Given the description of an element on the screen output the (x, y) to click on. 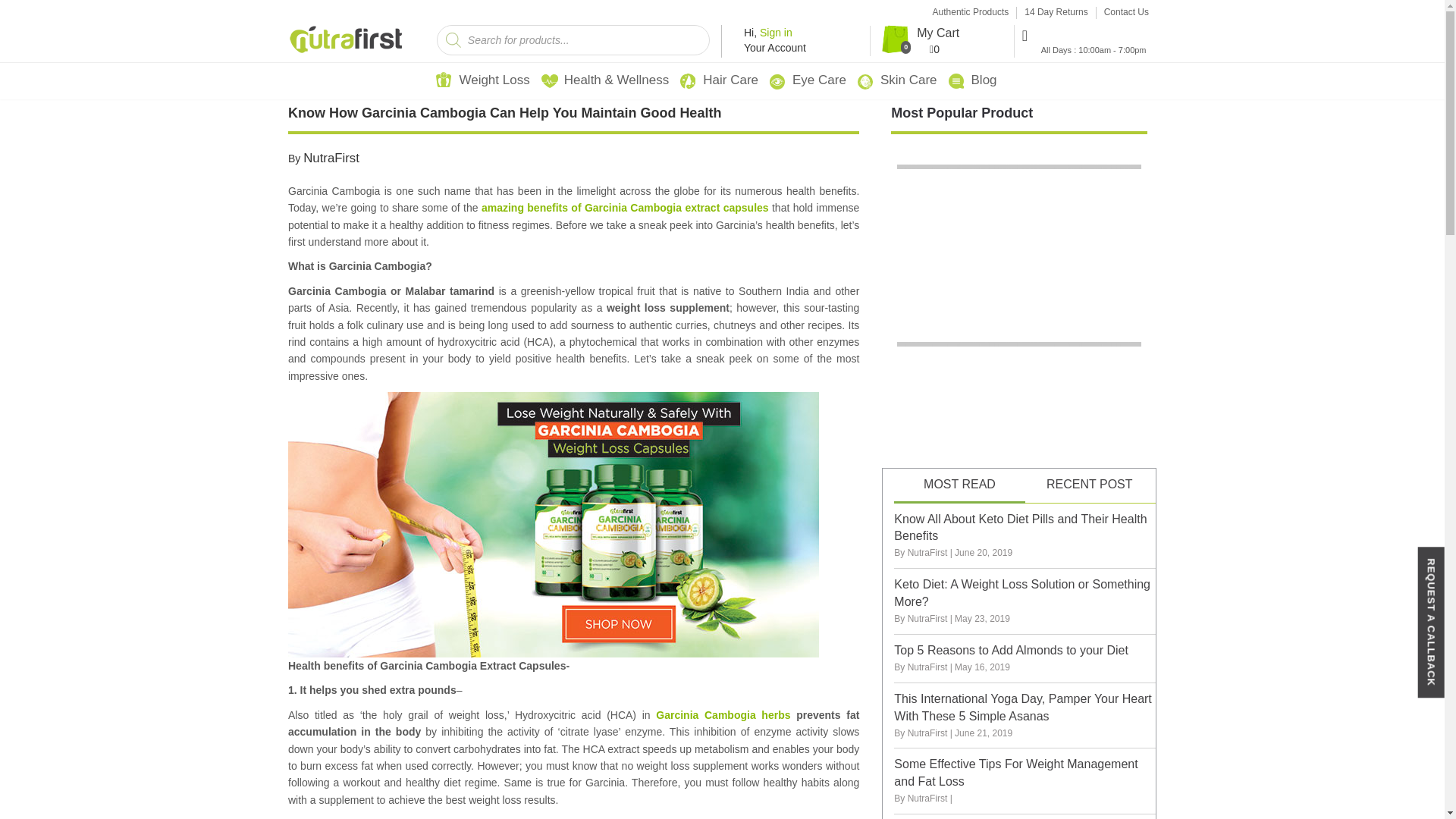
Sign in (776, 32)
Weight Loss (493, 80)
Contact Us (1126, 12)
14 Day Returns (1056, 12)
Authentic Products (970, 12)
Hair Care (730, 80)
